Given the description of an element on the screen output the (x, y) to click on. 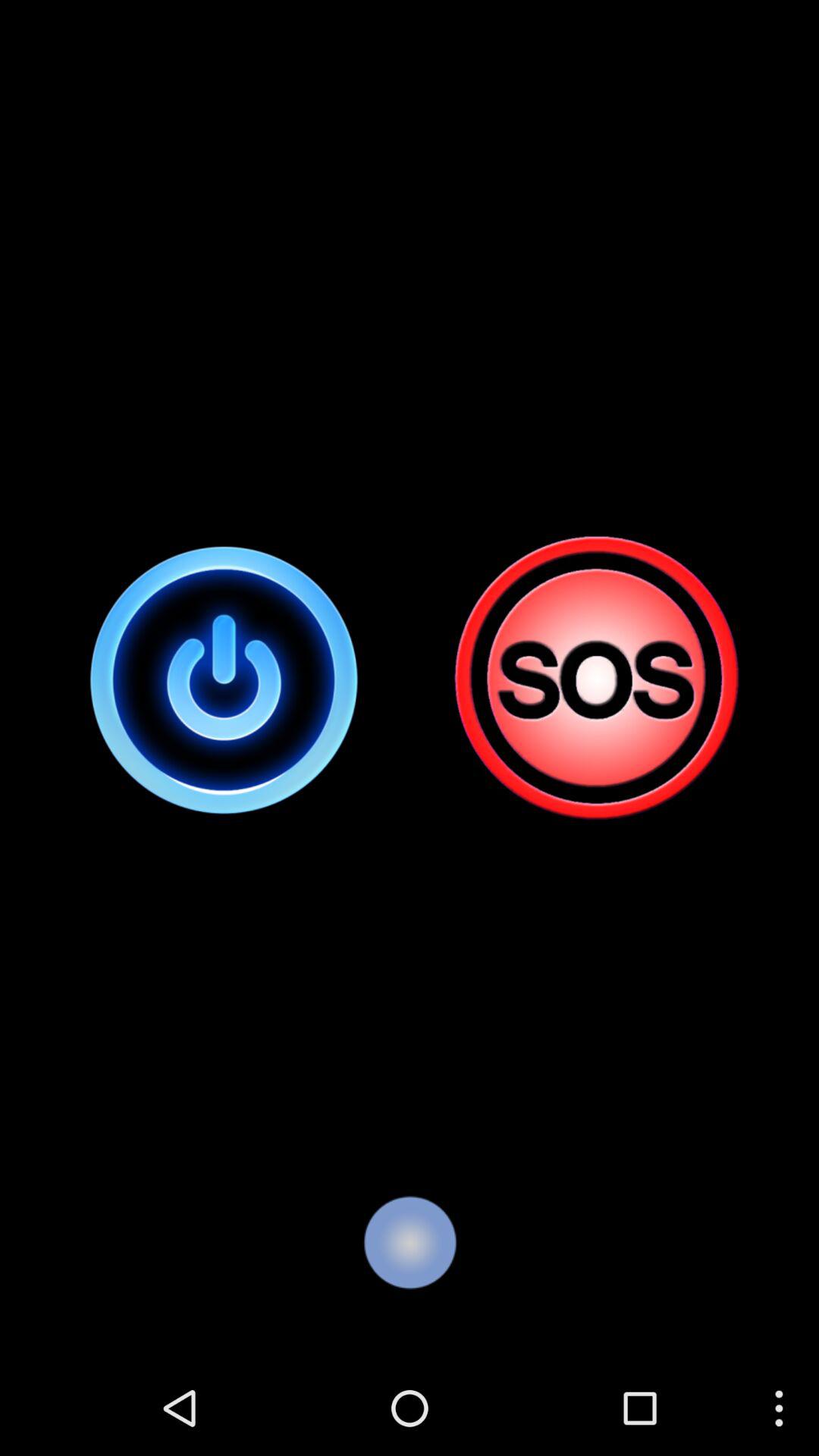
turn on button on the right (594, 679)
